Given the description of an element on the screen output the (x, y) to click on. 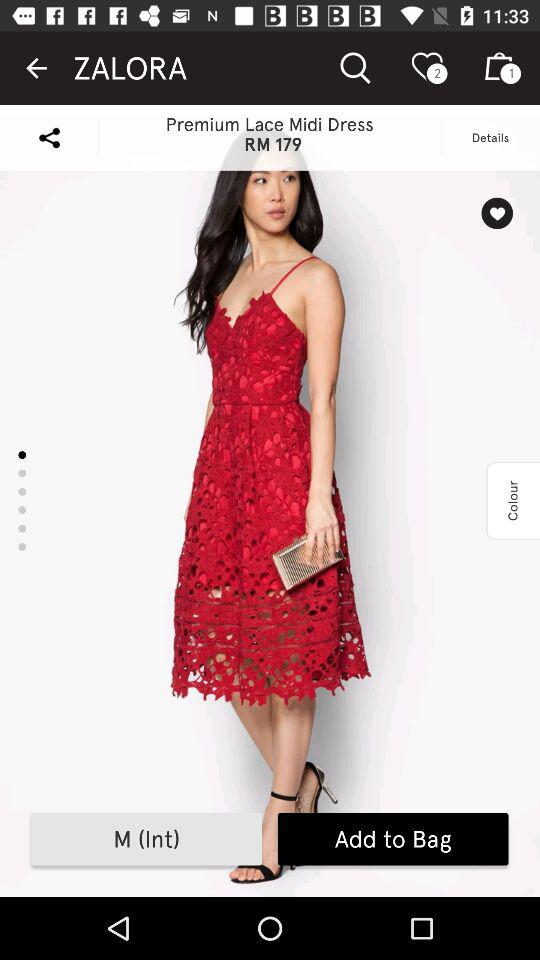
select icon next to zalora (36, 68)
